Given the description of an element on the screen output the (x, y) to click on. 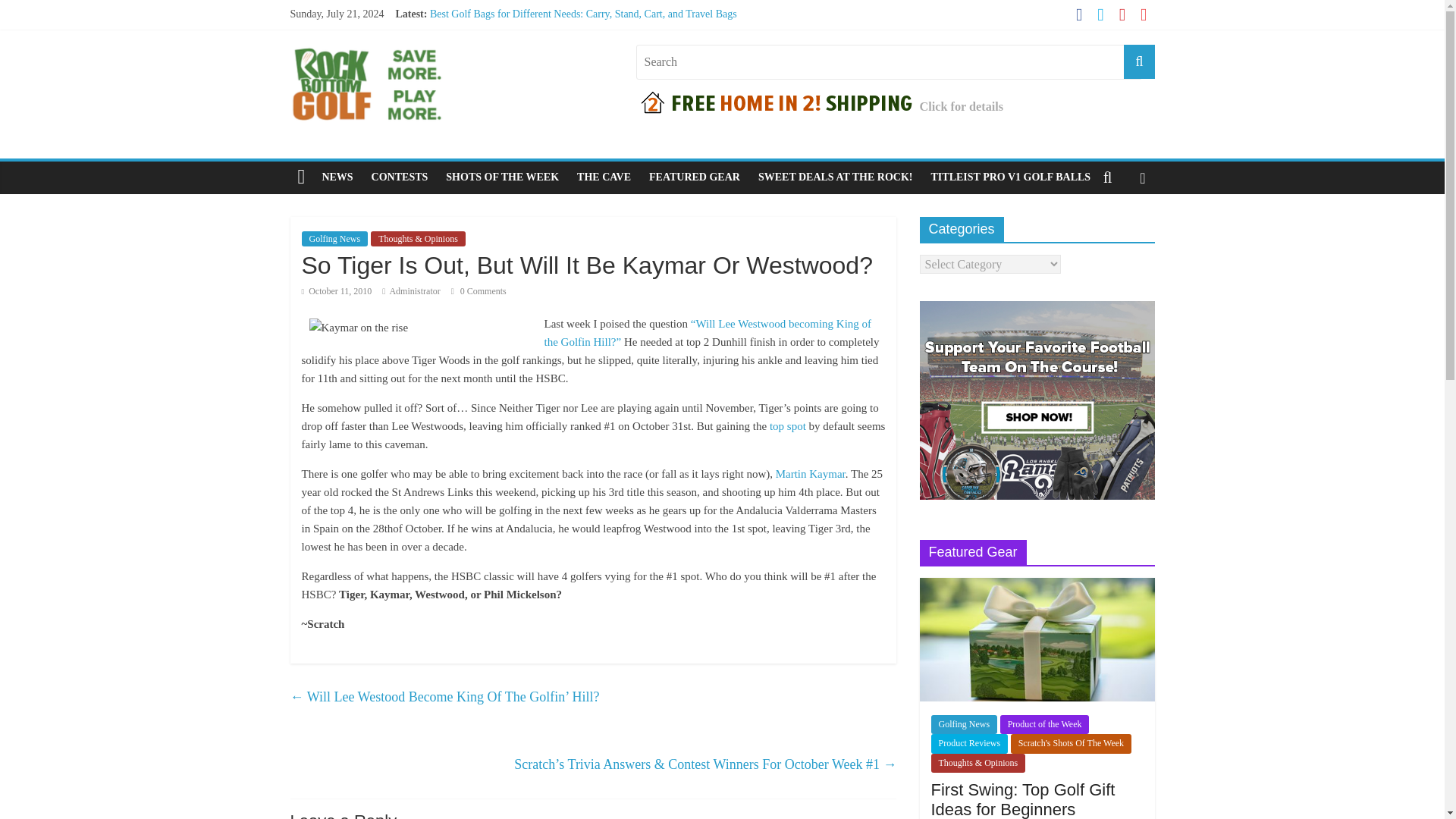
October 11, 2010 (336, 290)
FEATURED GEAR (694, 177)
TITLEIST PRO V1 GOLF BALLS (1010, 177)
THE CAVE (603, 177)
First Swing: Top Golf Gift Ideas for Beginners (1036, 585)
Kaymar on the rise (422, 327)
First Swing: Top Golf Gift Ideas for Beginners (1036, 639)
Product Reviews (970, 742)
Product of the Week (1044, 723)
Martin Kaymar (810, 473)
The Best Golf Balls for Seniors: Enhance Your Game in 2024 (561, 64)
Golfing News (964, 723)
0 Comments (478, 290)
